Given the description of an element on the screen output the (x, y) to click on. 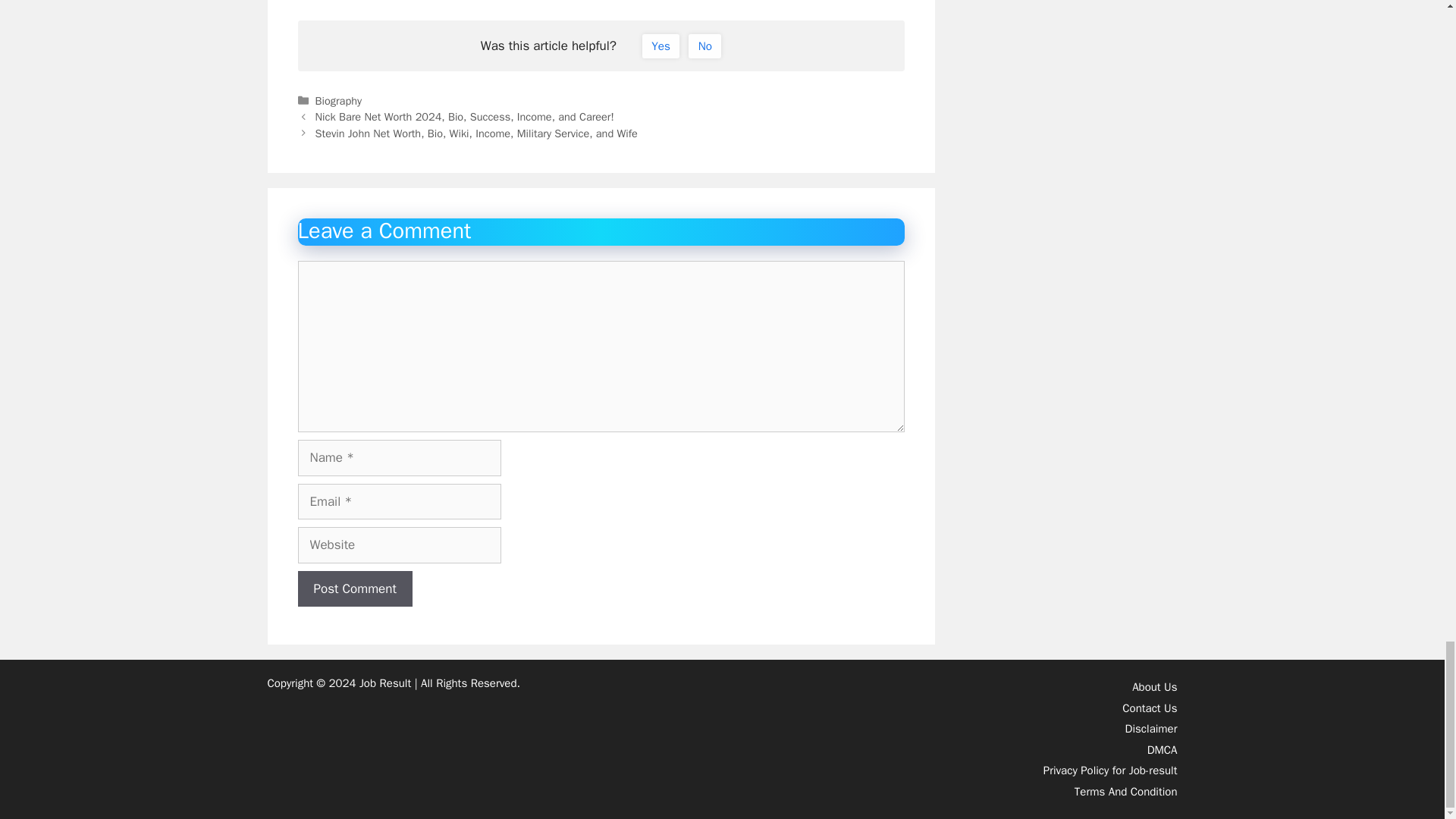
Post Comment (354, 748)
Nick Bare Net Worth 2024, Bio, Success, Income, and Career! (464, 275)
Post Comment (354, 748)
Biography (338, 259)
